Given the description of an element on the screen output the (x, y) to click on. 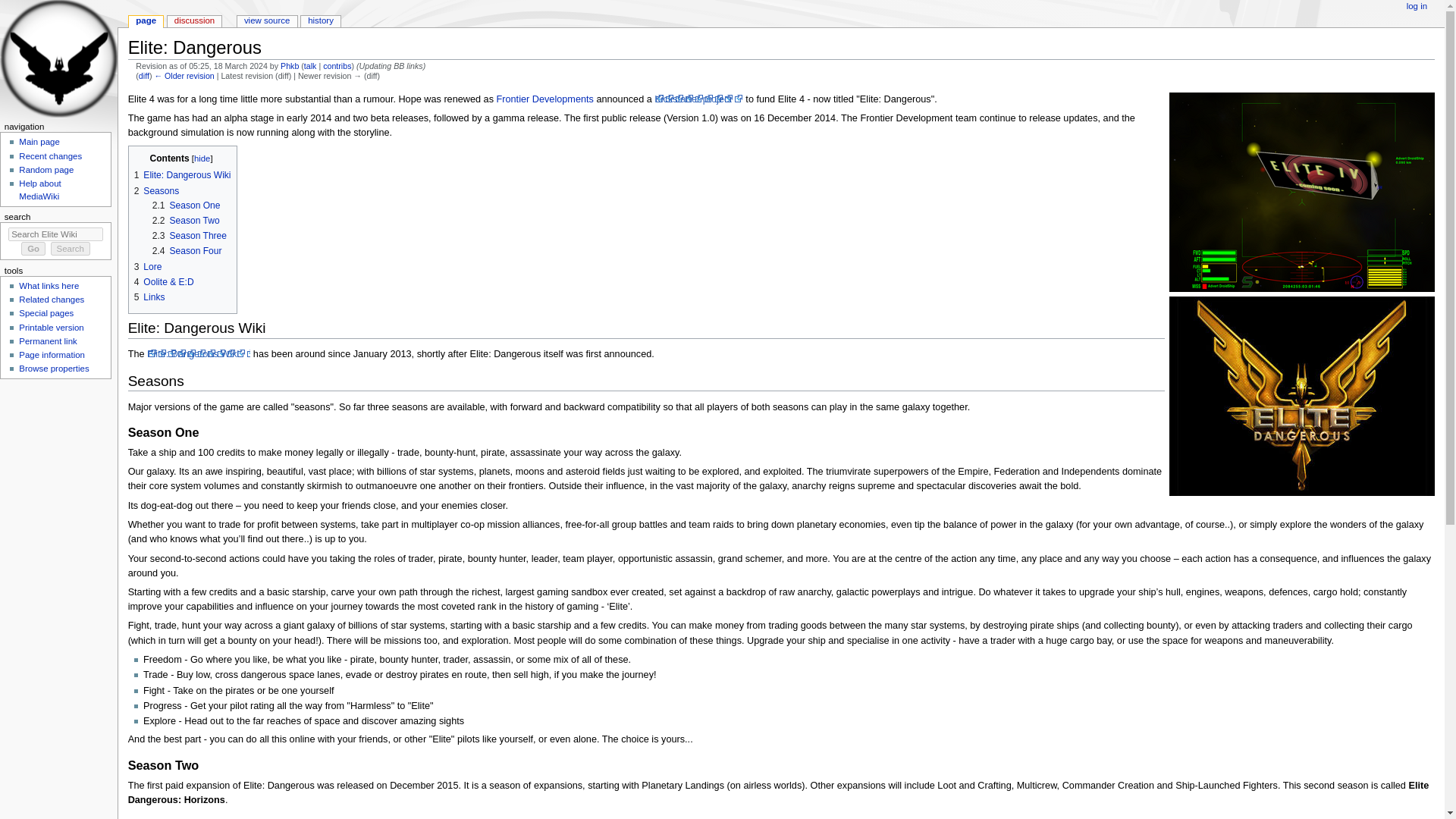
Kickstarter project (697, 99)
Search (70, 248)
2.3 Season Three (189, 235)
history (320, 21)
Main page (38, 141)
2.1 Season One (186, 204)
Elite: Dangerous (184, 75)
contribs (336, 65)
Frontier Developments (545, 99)
User talk:Phkb (310, 65)
2.4 Season Four (187, 250)
2.2 Season Two (185, 220)
2 Seasons (156, 190)
discussion (194, 21)
page (146, 21)
